Given the description of an element on the screen output the (x, y) to click on. 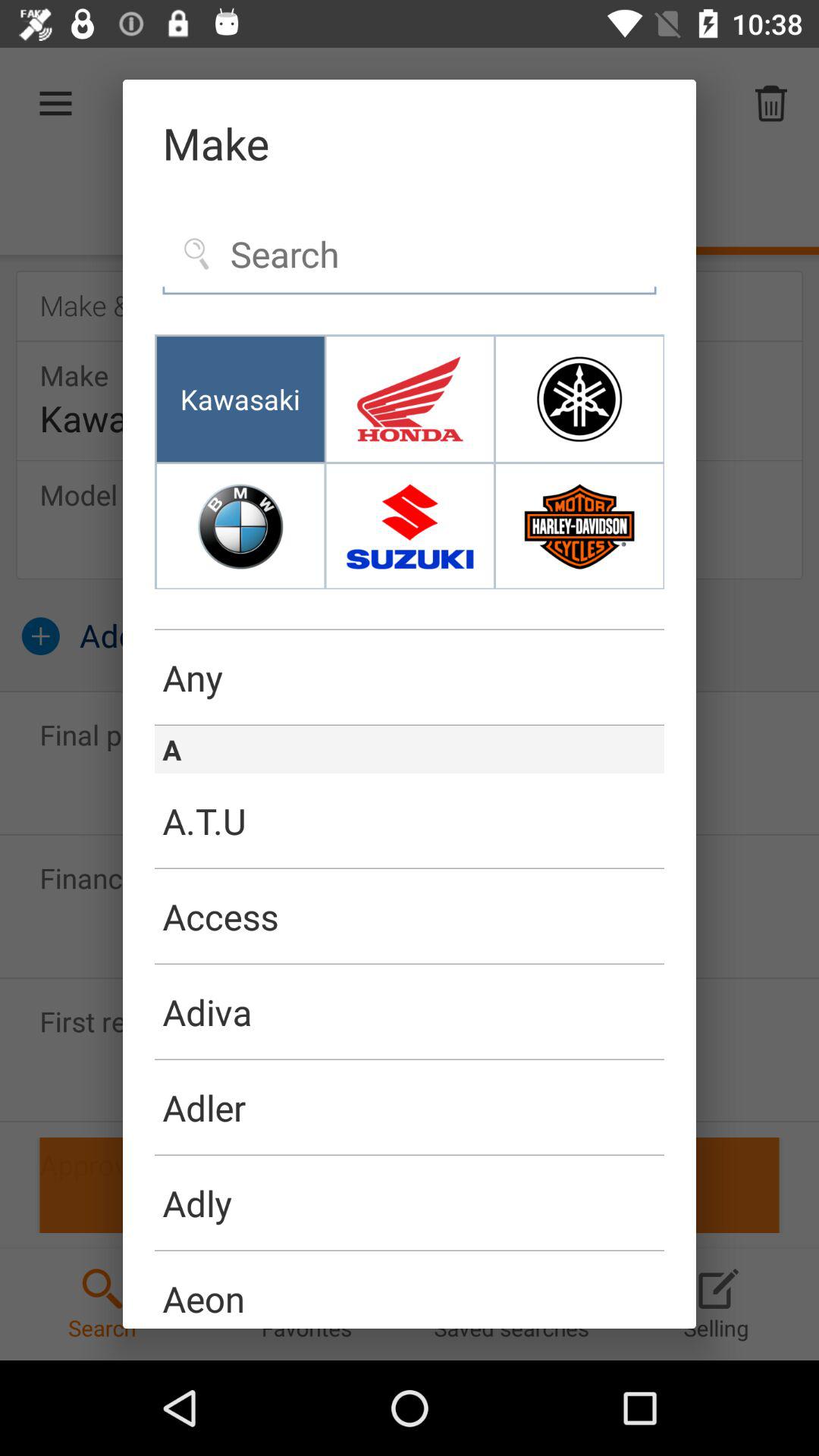
open the icon below the a.t.u item (409, 916)
